Given the description of an element on the screen output the (x, y) to click on. 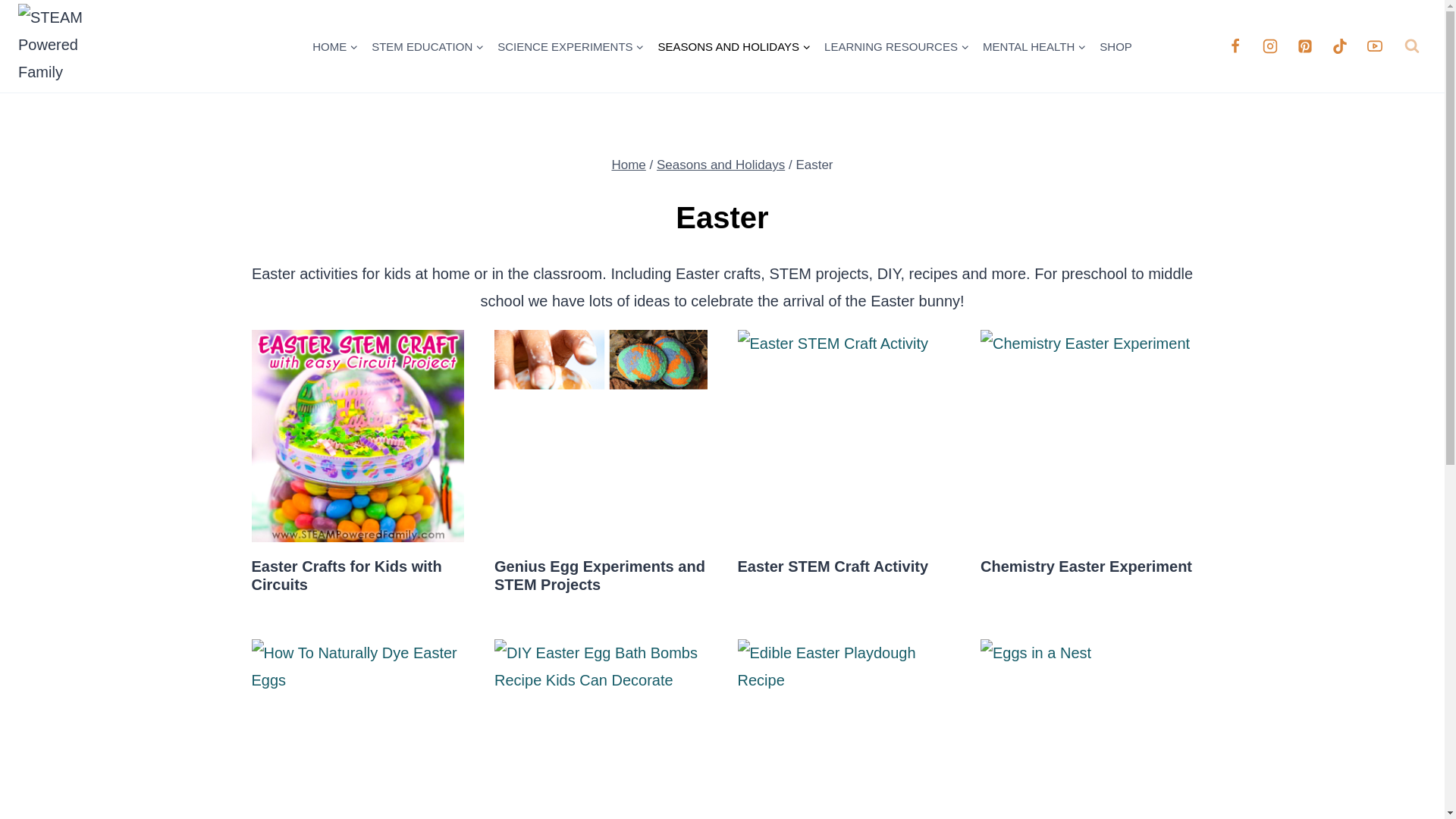
SCIENCE EXPERIMENTS (570, 45)
HOME (335, 45)
STEM EDUCATION (427, 45)
SEASONS AND HOLIDAYS (733, 45)
